Given the description of an element on the screen output the (x, y) to click on. 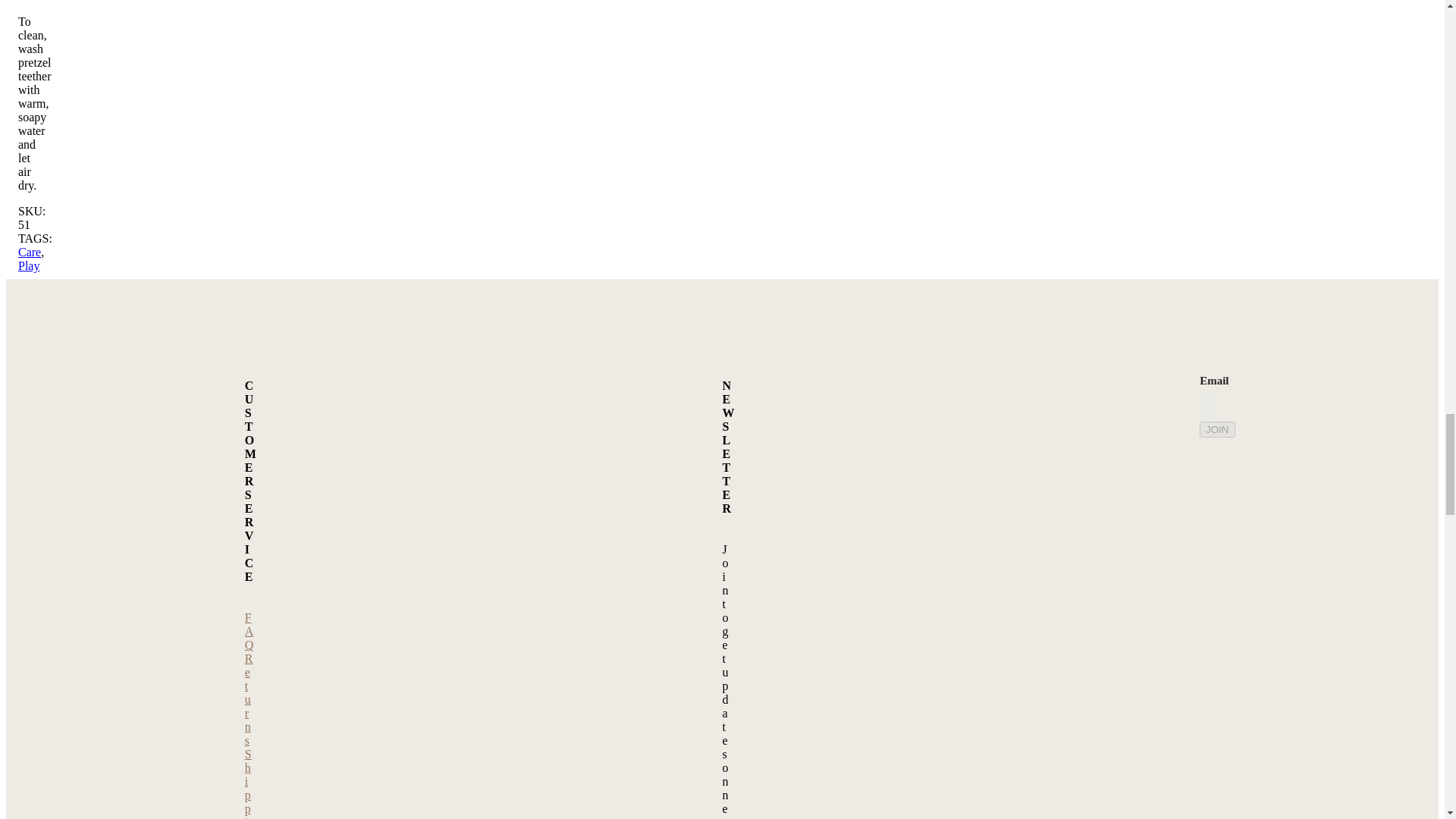
JOIN (1216, 429)
Returns (248, 698)
Care (28, 251)
Play (28, 265)
FAQ (248, 630)
